Given the description of an element on the screen output the (x, y) to click on. 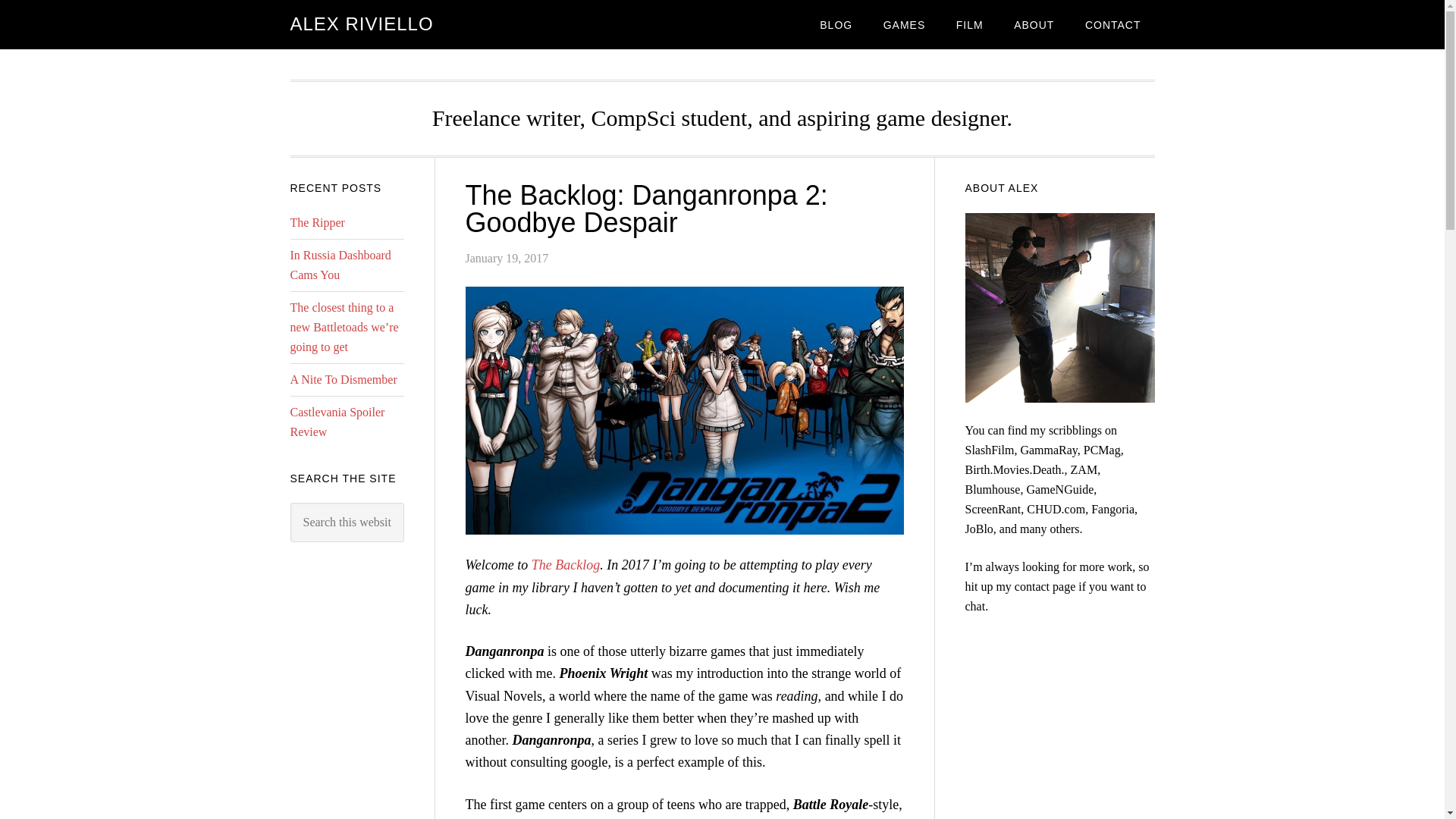
FILM (969, 24)
The Backlog (565, 564)
BLOG (836, 24)
CONTACT (1112, 24)
In Russia Dashboard Cams You (339, 264)
ALEX RIVIELLO (360, 23)
A Nite To Dismember (342, 379)
GAMES (904, 24)
Castlevania Spoiler Review (336, 421)
ABOUT (1033, 24)
The Ripper (316, 222)
